Given the description of an element on the screen output the (x, y) to click on. 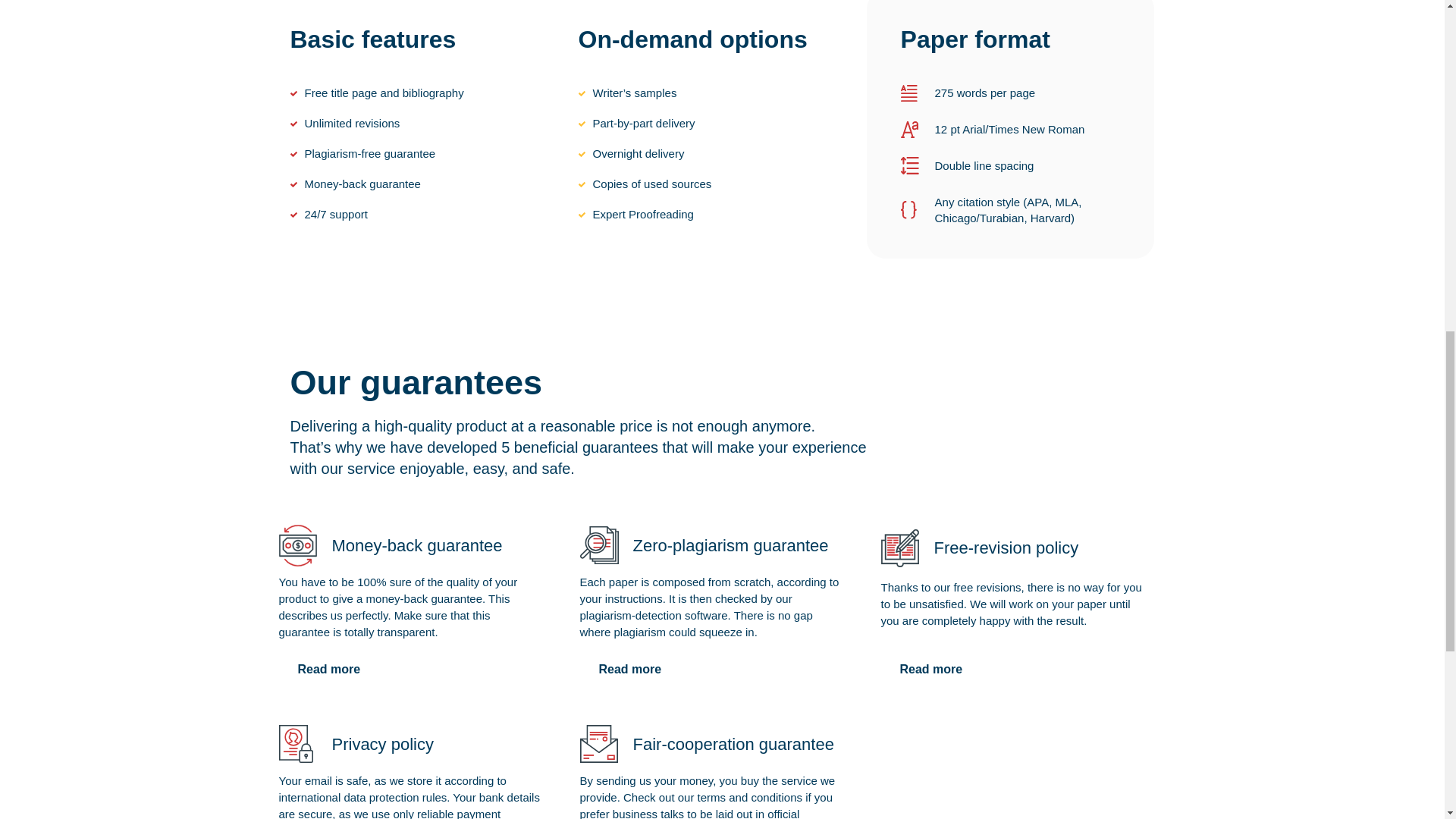
Read more (930, 669)
Read more (629, 669)
Read more (329, 669)
